Given the description of an element on the screen output the (x, y) to click on. 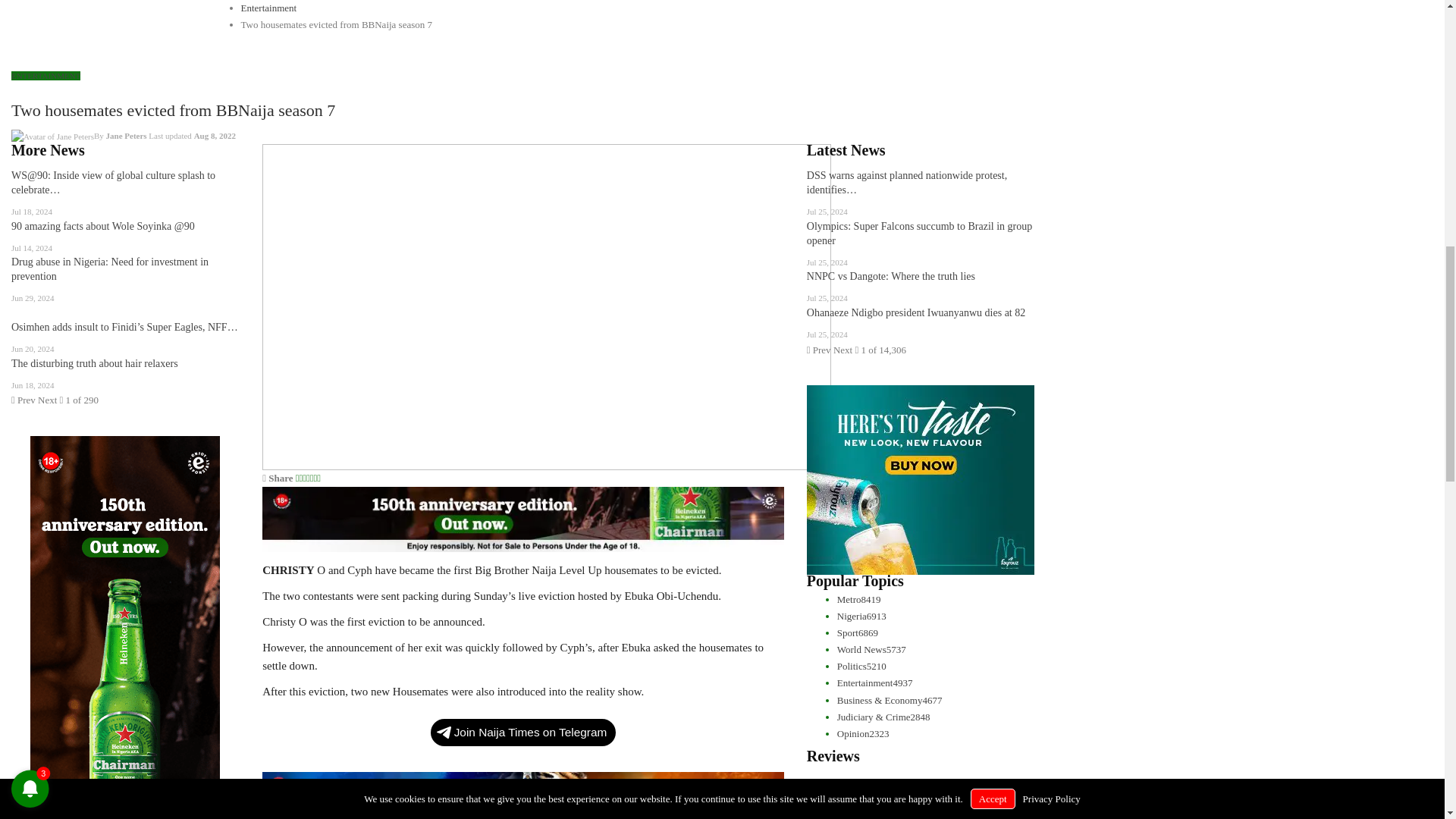
Browse Author Articles (79, 135)
